Given the description of an element on the screen output the (x, y) to click on. 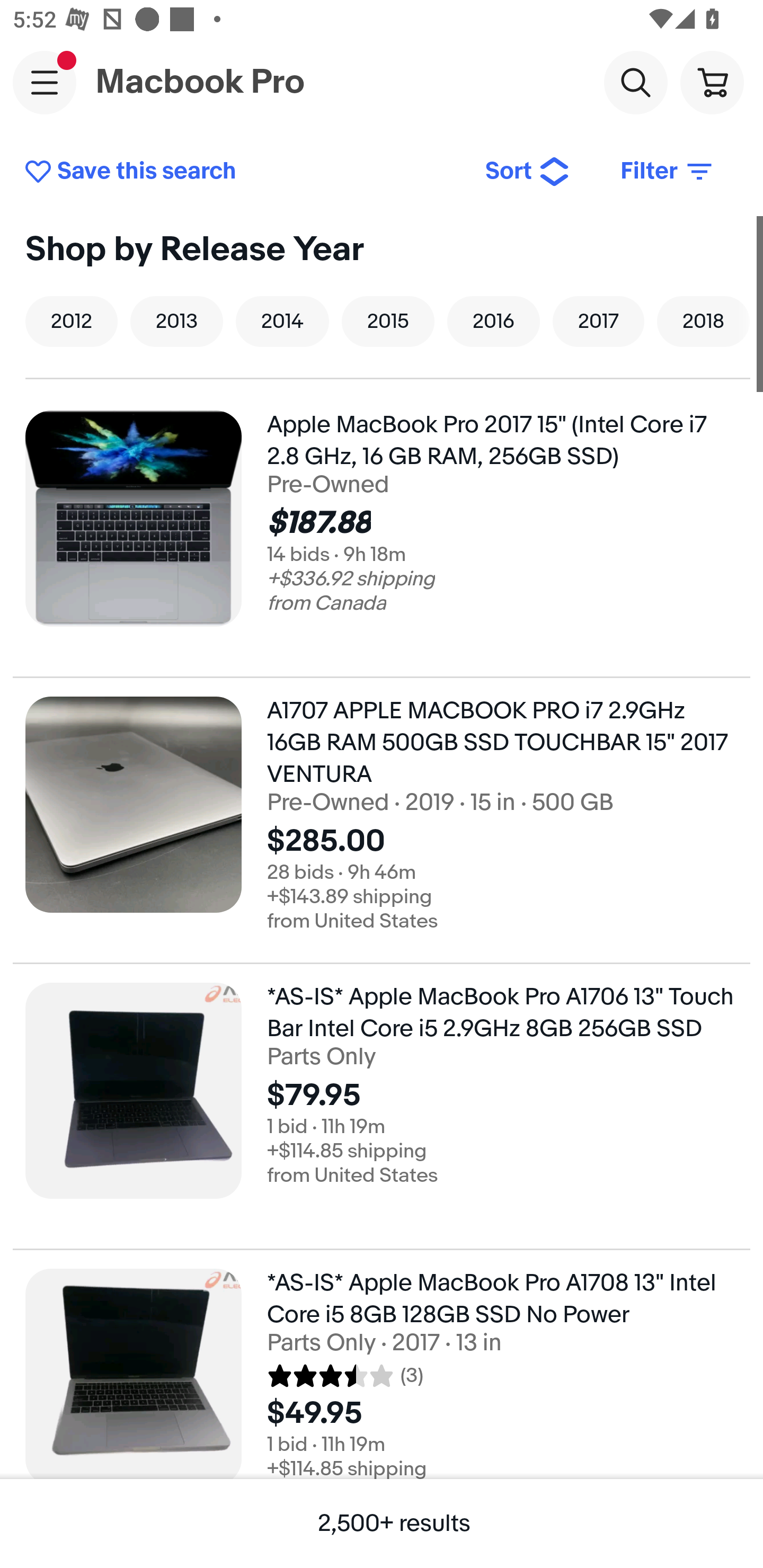
Main navigation, notification is pending, open (44, 82)
Search (635, 81)
Cart button shopping cart (711, 81)
Save this search (241, 171)
Sort (527, 171)
Filter (667, 171)
2012 2012, Release Year (71, 321)
2013 2013, Release Year (176, 321)
2014 2014, Release Year (281, 321)
2015 2015, Release Year (387, 321)
2016 2016, Release Year (493, 321)
2017 2017, Release Year (597, 321)
2018 2018, Release Year (703, 321)
